Given the description of an element on the screen output the (x, y) to click on. 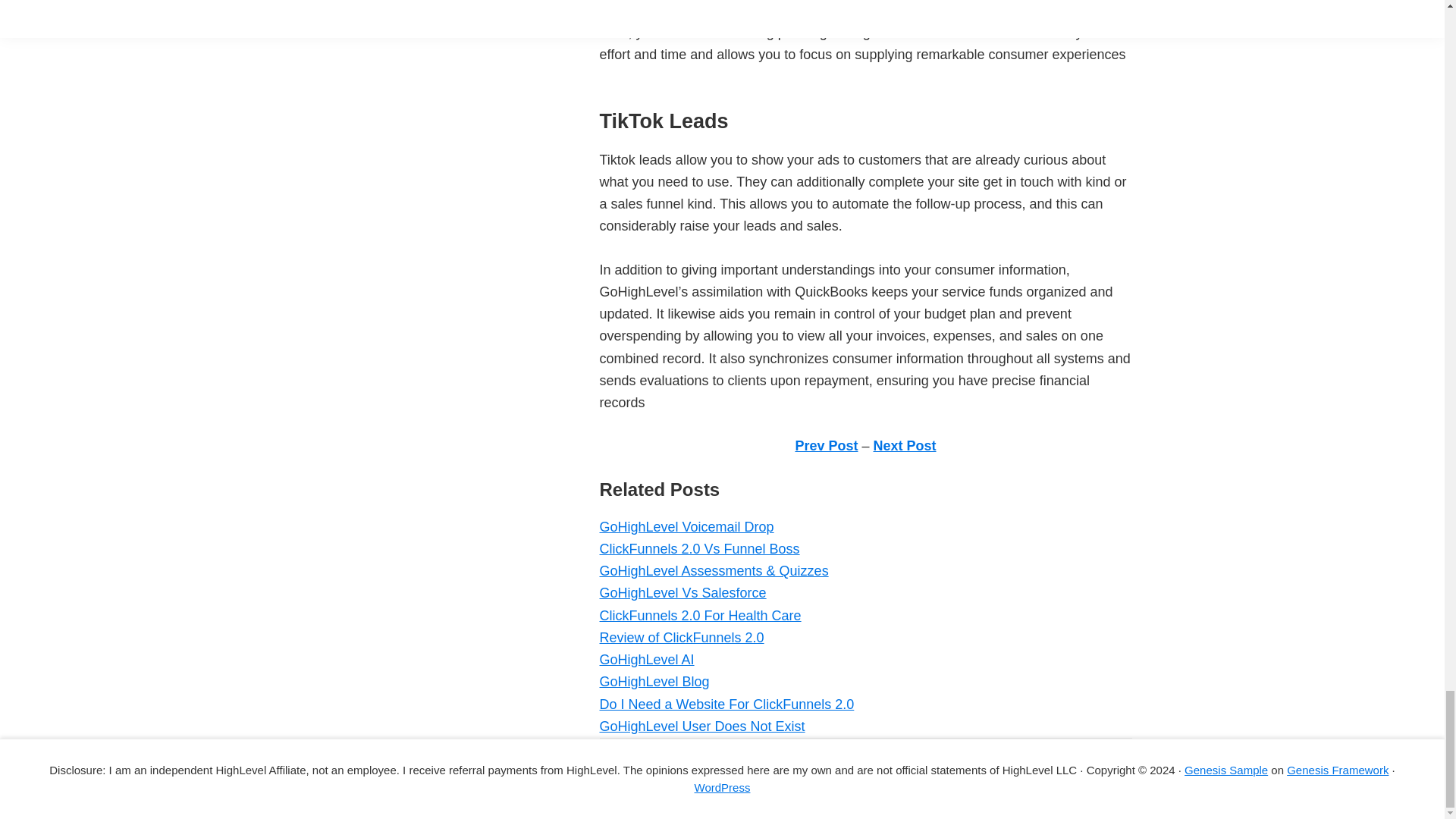
GoHighLevel Vs Salesforce (681, 592)
ClickFunnels 2.0 Vs Funnel Boss (698, 548)
GoHighLevel AI (646, 659)
GoHighLevel User Does Not Exist (701, 726)
GoHighLevel Voicemail Drop (685, 526)
GoHighLevel AI (646, 659)
ClickFunnels 2.0 For Health Care (699, 615)
Prev Post (825, 445)
Do I Need a Website For ClickFunnels 2.0 (725, 703)
GoHighLevel User Does Not Exist (701, 726)
